Given the description of an element on the screen output the (x, y) to click on. 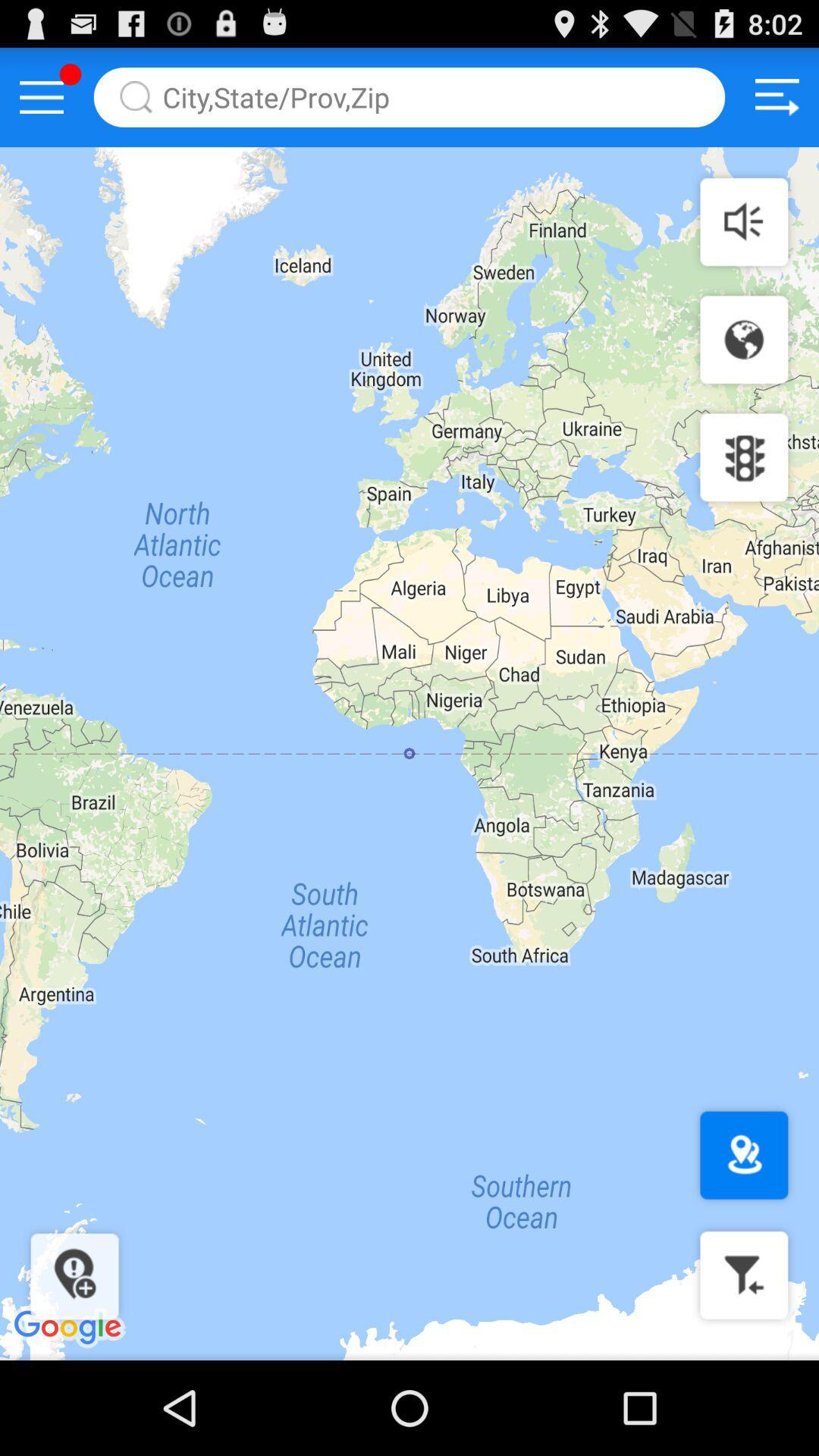
find fuel (744, 1275)
